Given the description of an element on the screen output the (x, y) to click on. 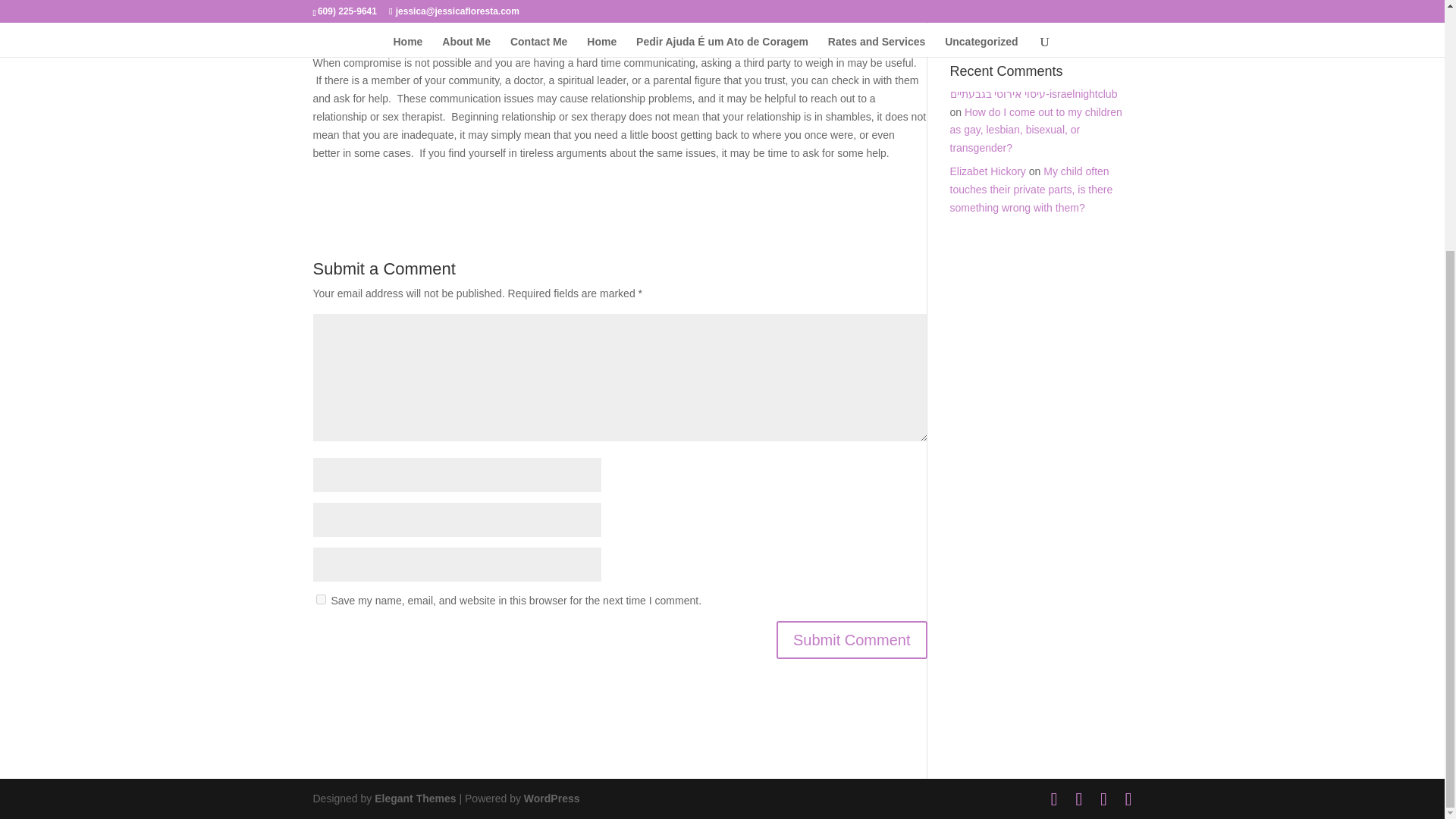
Premium WordPress Themes (414, 798)
yes (319, 599)
Submit Comment (851, 639)
